Given the description of an element on the screen output the (x, y) to click on. 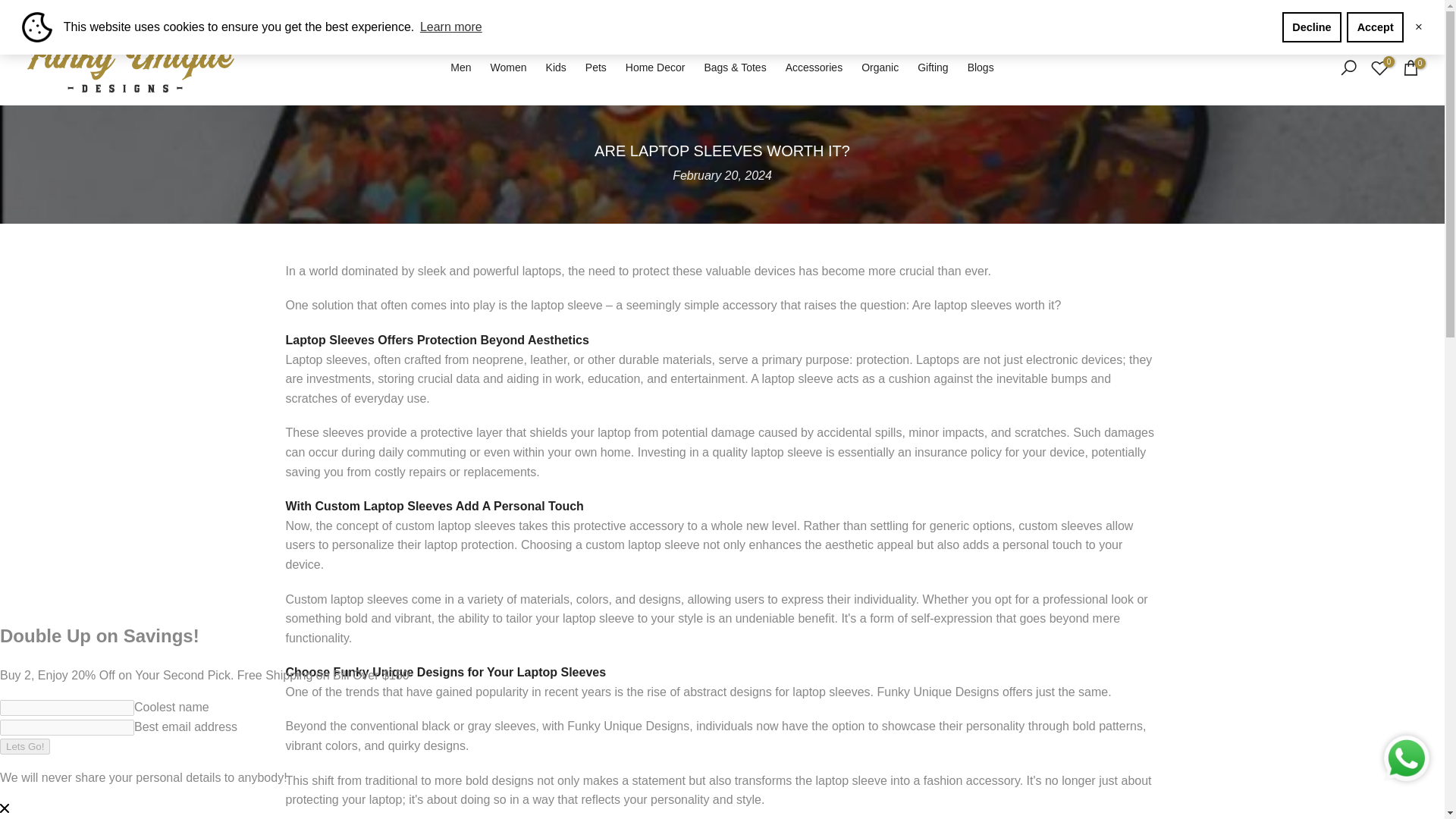
Accept (1374, 27)
Men (460, 67)
Learn more (450, 26)
Women (507, 67)
Decline (1311, 27)
Skip to content (10, 7)
Pets (595, 67)
Kids (555, 67)
Home Decor (654, 67)
